Given the description of an element on the screen output the (x, y) to click on. 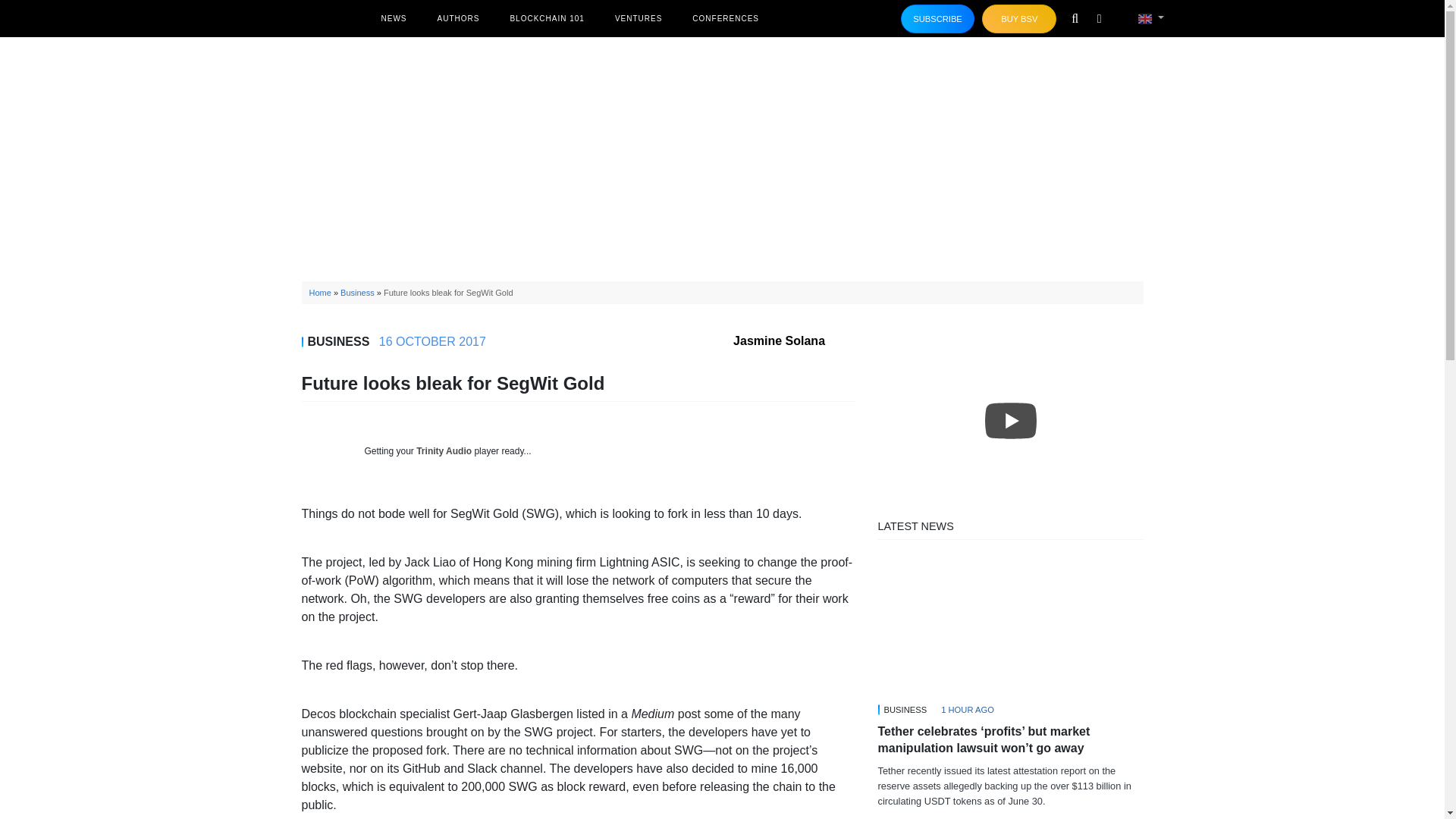
BLOCKCHAIN 101 (546, 18)
Jasmine Solana (793, 340)
Never miss an update again! Subscribe to Newsletter! (938, 18)
BUY BSV (1019, 18)
NEWS (392, 18)
CONFERENCES (725, 18)
AUTHORS (457, 18)
VENTURES (638, 18)
SUBSCRIBE (938, 18)
Trinity Audio (443, 450)
Home (319, 292)
Business (357, 292)
